Given the description of an element on the screen output the (x, y) to click on. 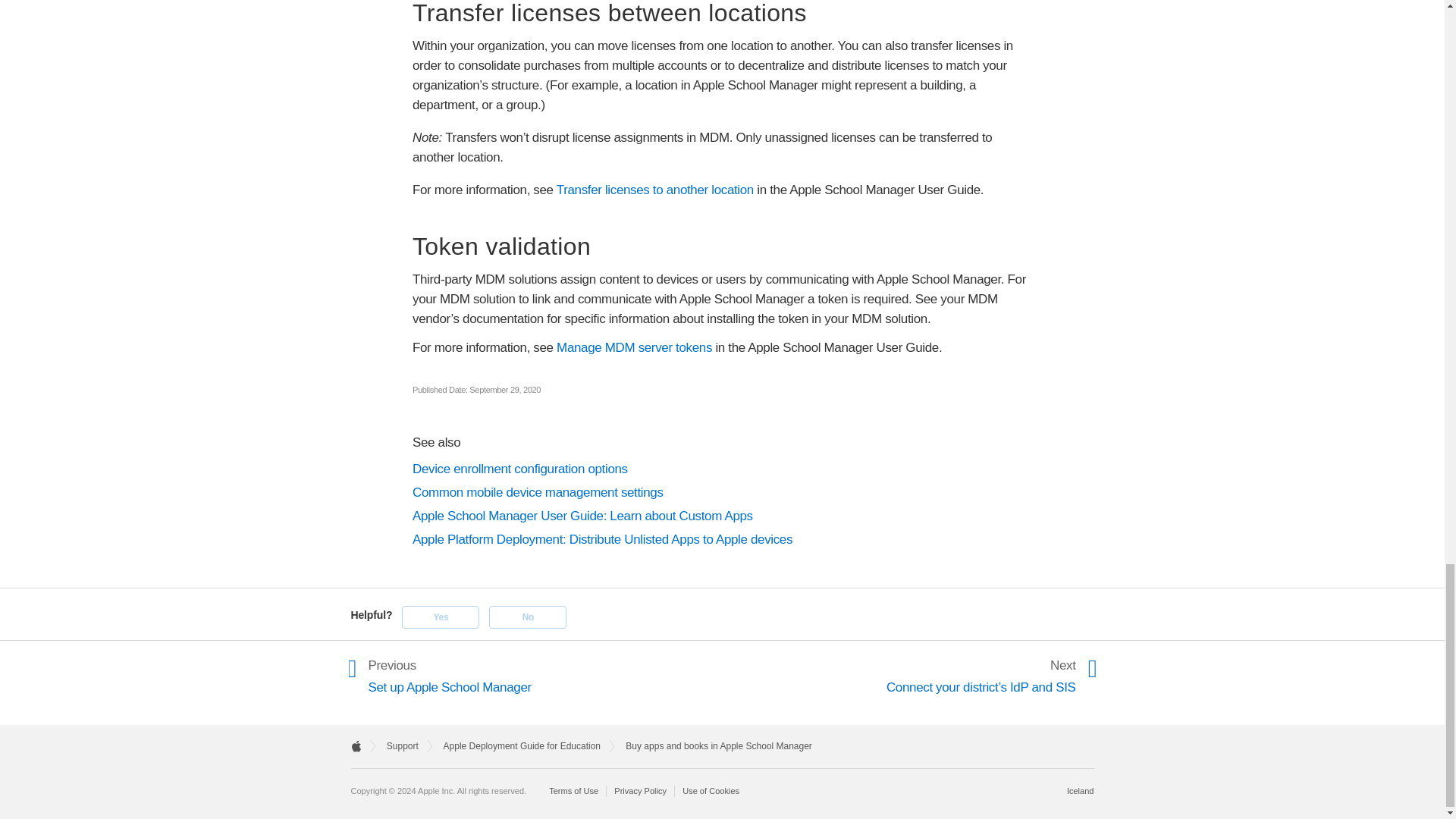
Iceland (1080, 790)
Transfer licenses to another location (655, 189)
Use of Cookies (710, 790)
Choose your country or region (1080, 790)
Yes (440, 617)
Device enrollment configuration options (722, 469)
Support (403, 746)
Terms of Use (451, 676)
